Given the description of an element on the screen output the (x, y) to click on. 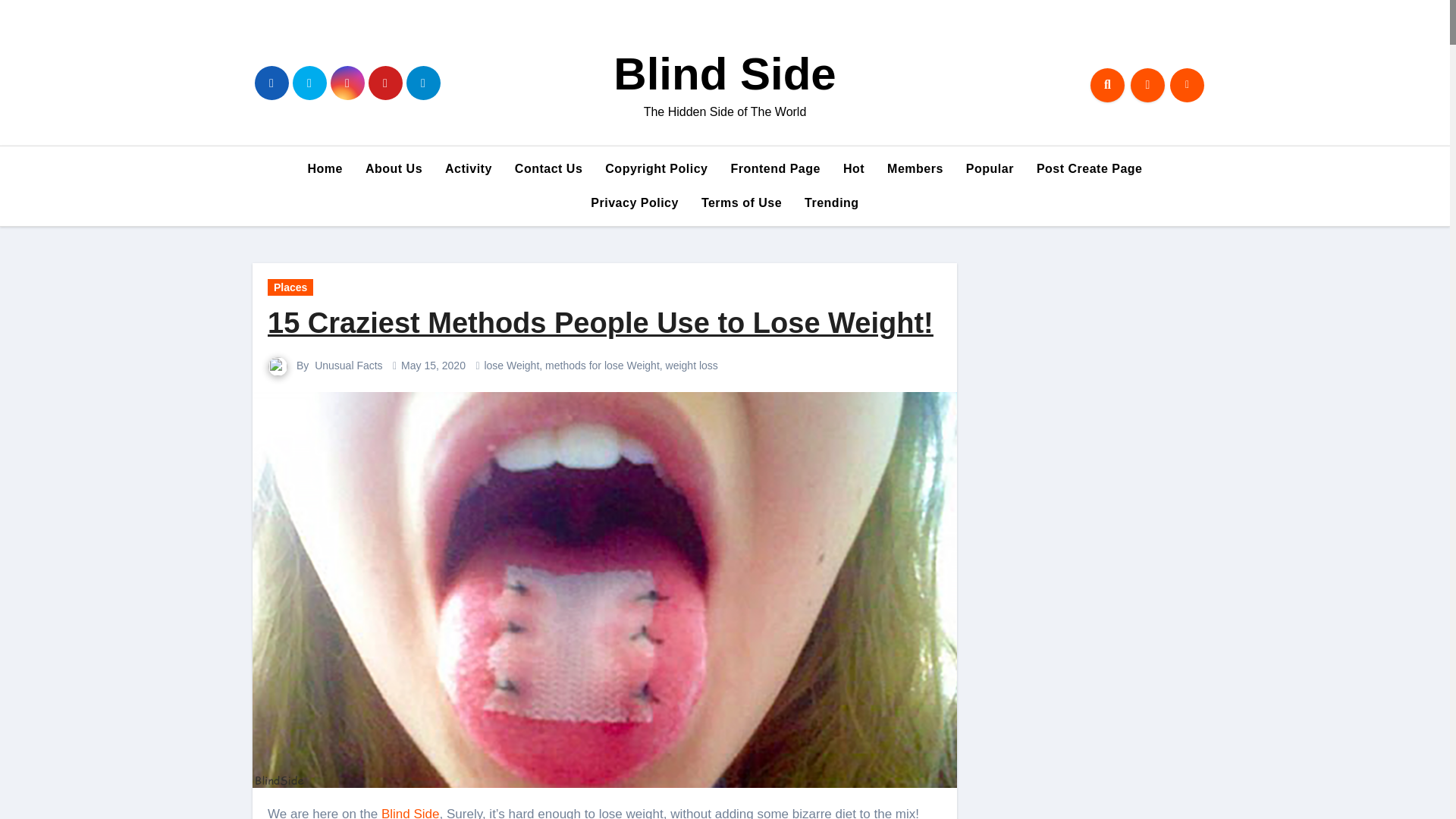
Home (324, 168)
Trending (831, 203)
Copyright Policy (656, 168)
Blind Side (723, 73)
lose Weight (510, 365)
Places (290, 287)
Post Create Page (1089, 168)
Popular (990, 168)
Unusual Facts (347, 365)
Activity (468, 168)
